Given the description of an element on the screen output the (x, y) to click on. 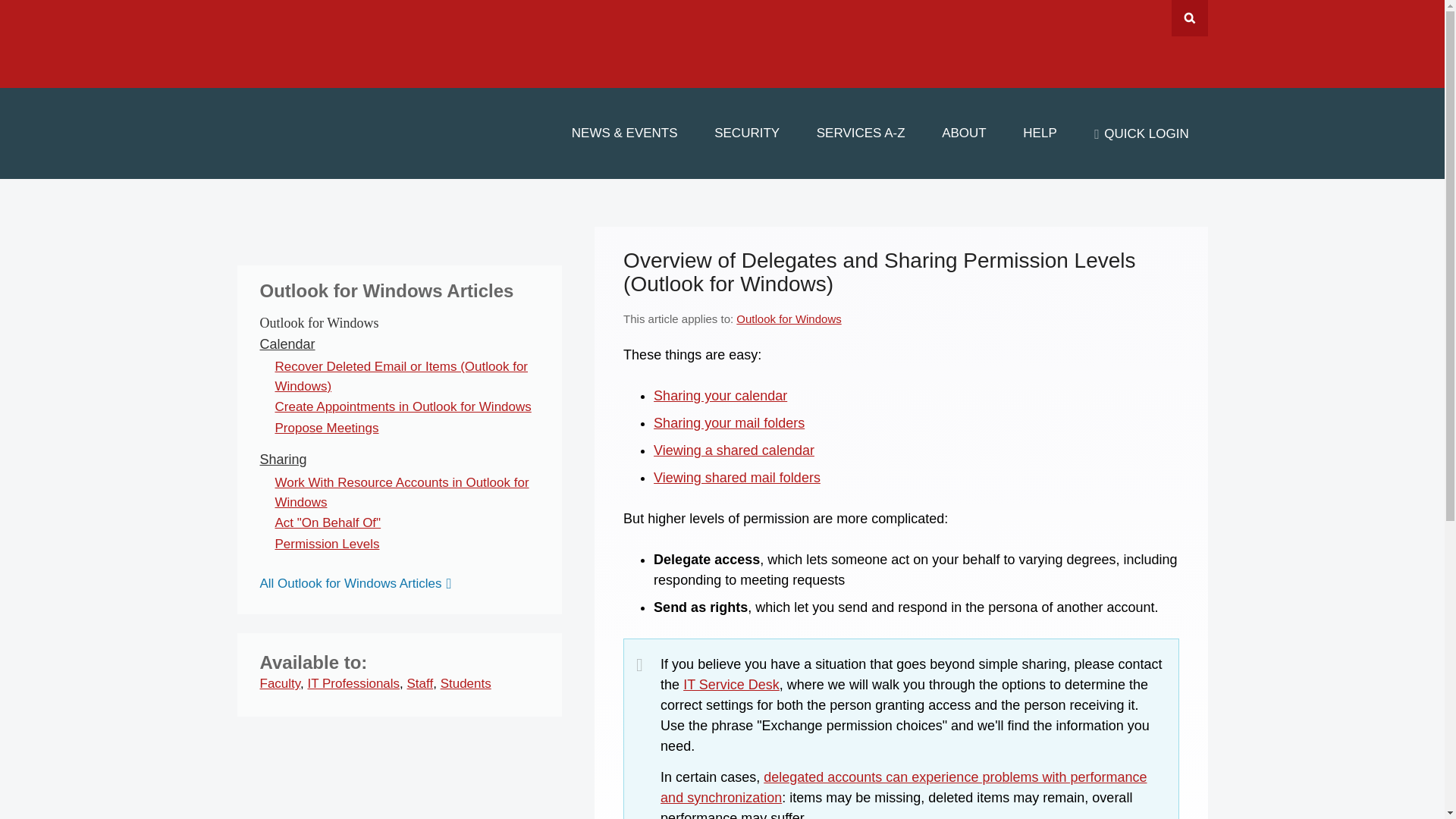
Get Help (730, 684)
Staff (420, 683)
Calendar (286, 344)
Students (466, 683)
QUICK LOGIN (1141, 133)
Log In to IT Services (1141, 133)
SECURITY (746, 133)
Create Appointments in Outlook for Windows (403, 406)
All Outlook for Windows Articles (358, 583)
HELP (1040, 133)
